Given the description of an element on the screen output the (x, y) to click on. 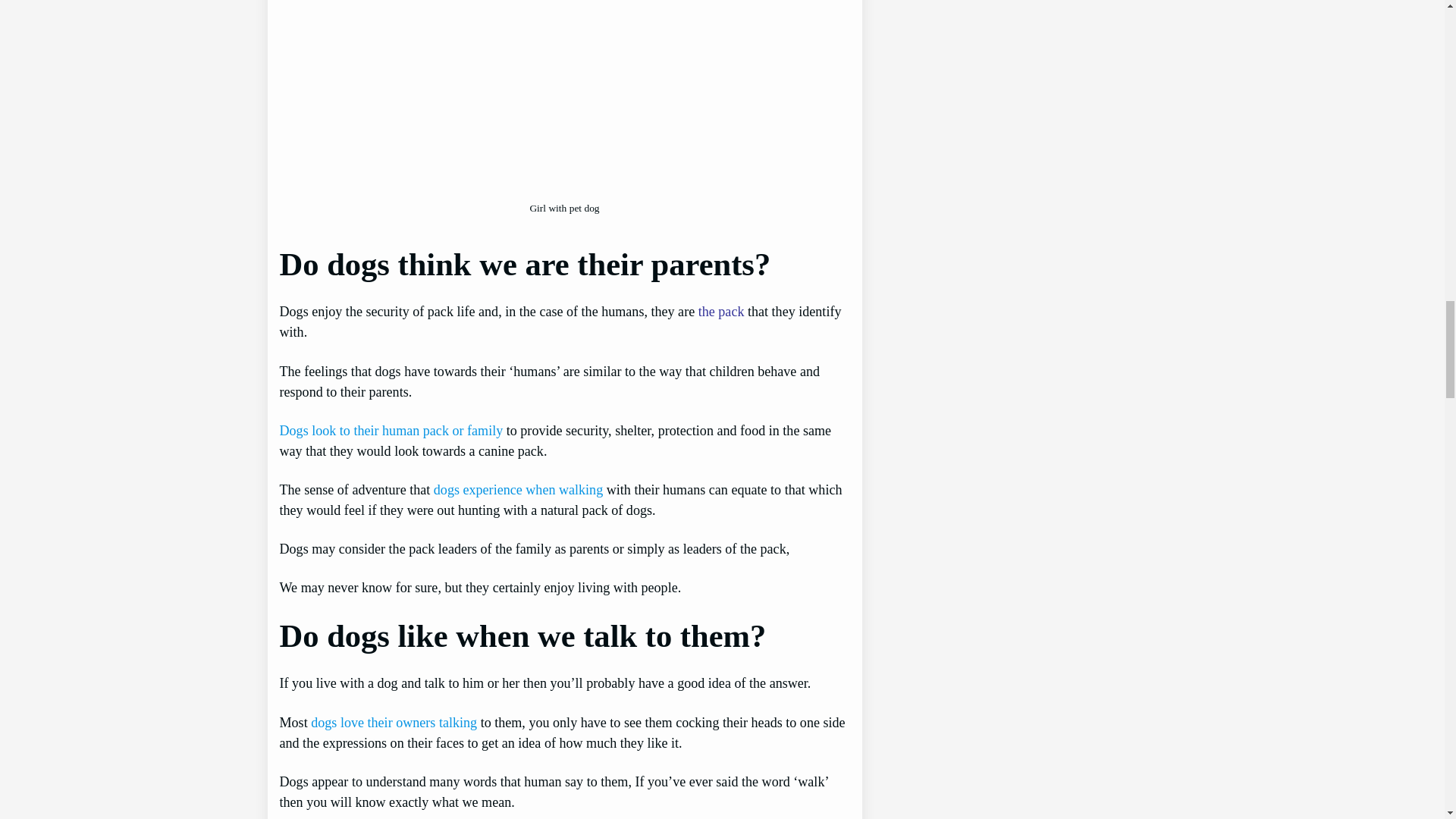
dogs love their owners talking (394, 722)
dogs experience when walking (517, 489)
Dogs look to their human pack or family (390, 430)
the pack (721, 311)
